Given the description of an element on the screen output the (x, y) to click on. 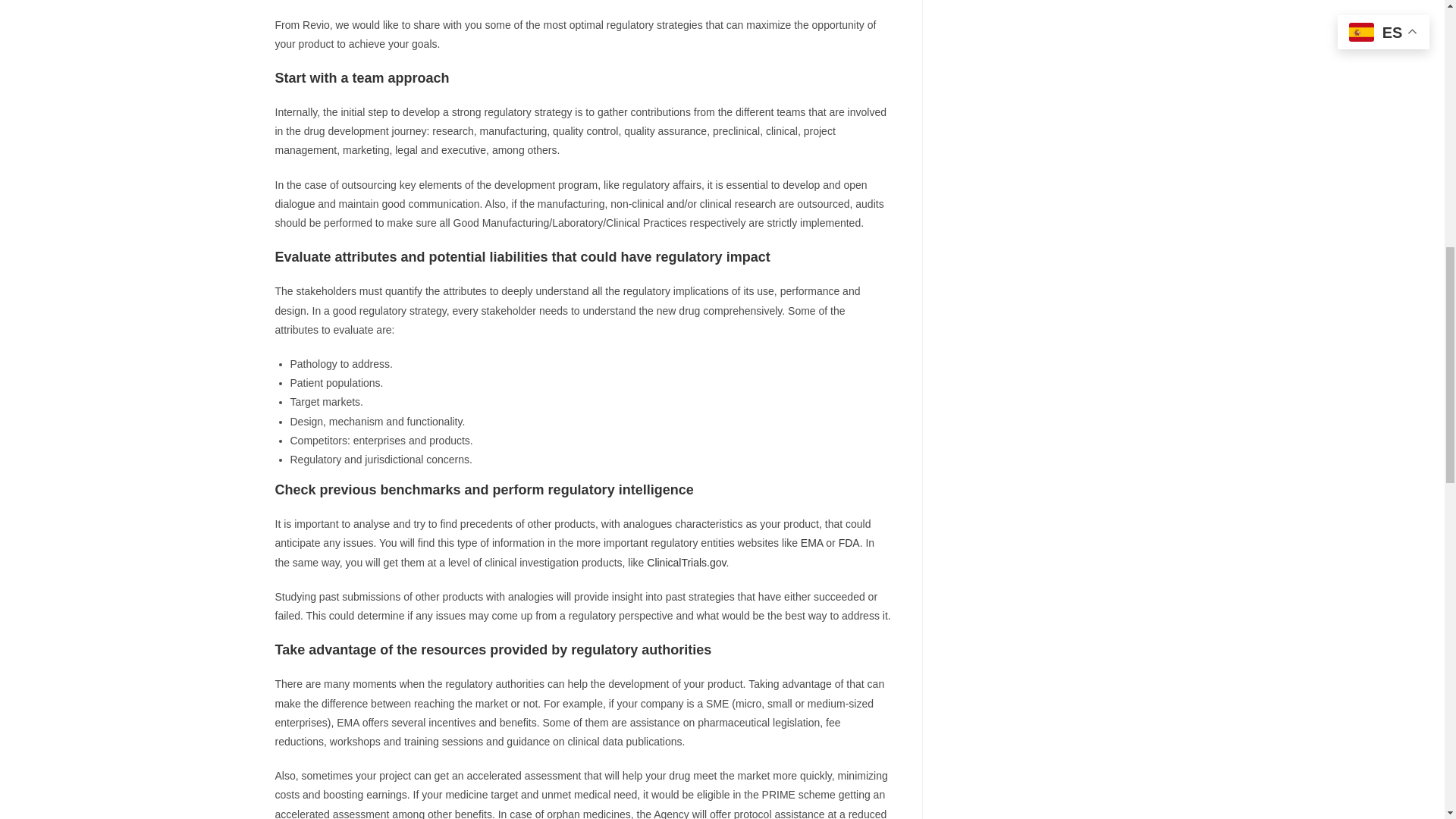
ClinicalTrials.gov (685, 562)
FDA (849, 542)
EMA (812, 542)
